Given the description of an element on the screen output the (x, y) to click on. 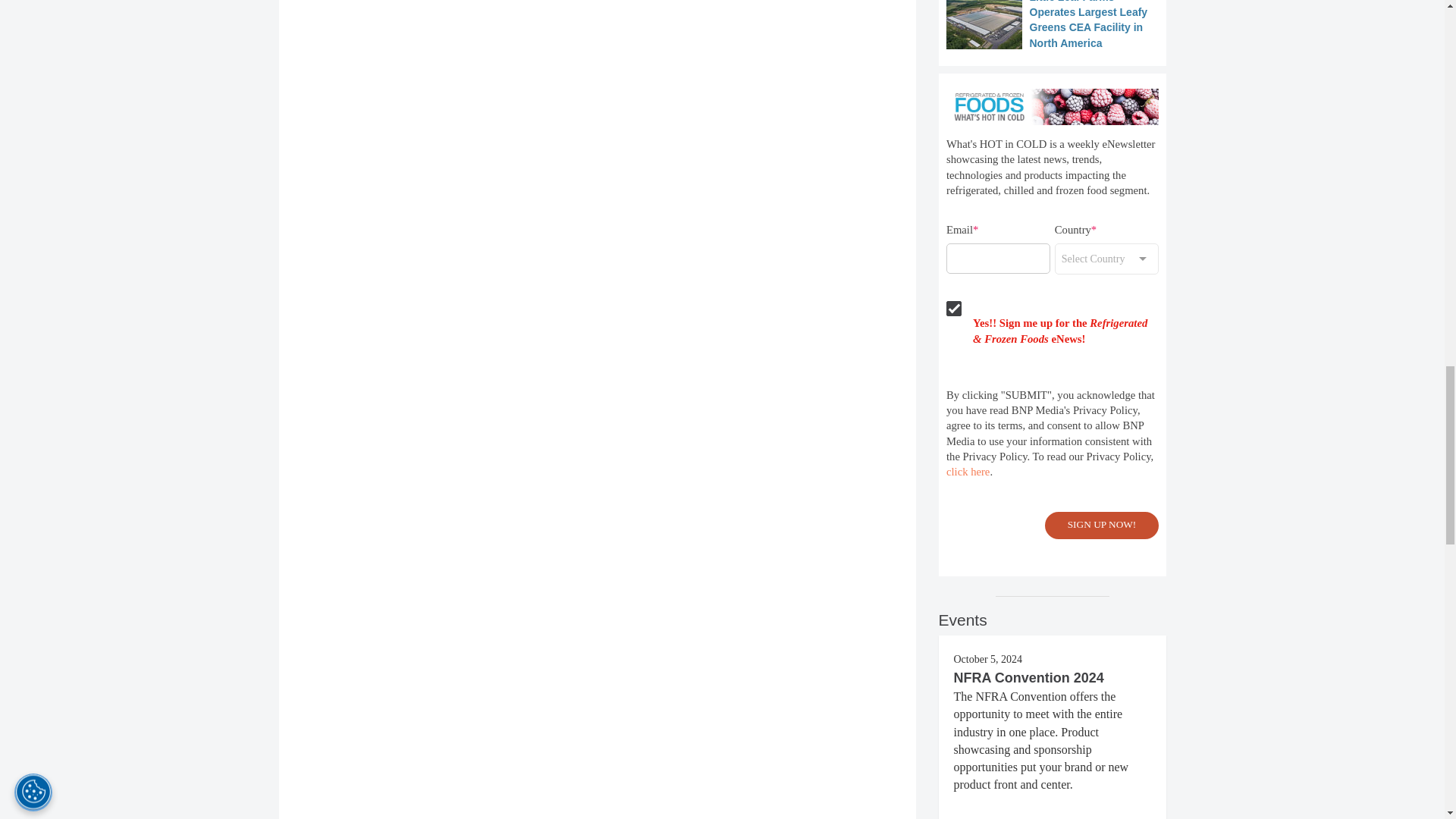
NFRA Convention 2024 (1028, 677)
